Given the description of an element on the screen output the (x, y) to click on. 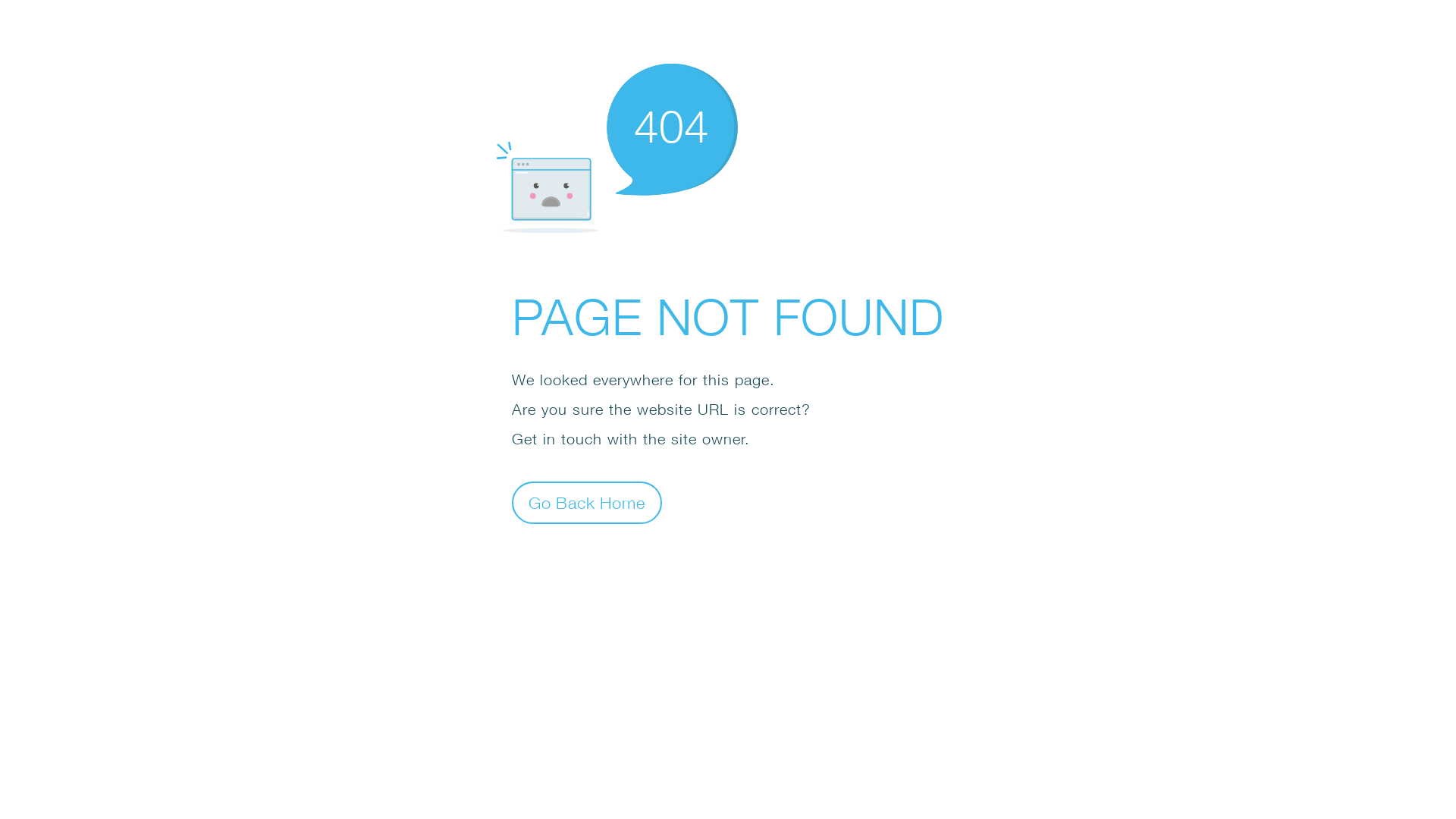
Go Back Home Element type: text (586, 502)
